Given the description of an element on the screen output the (x, y) to click on. 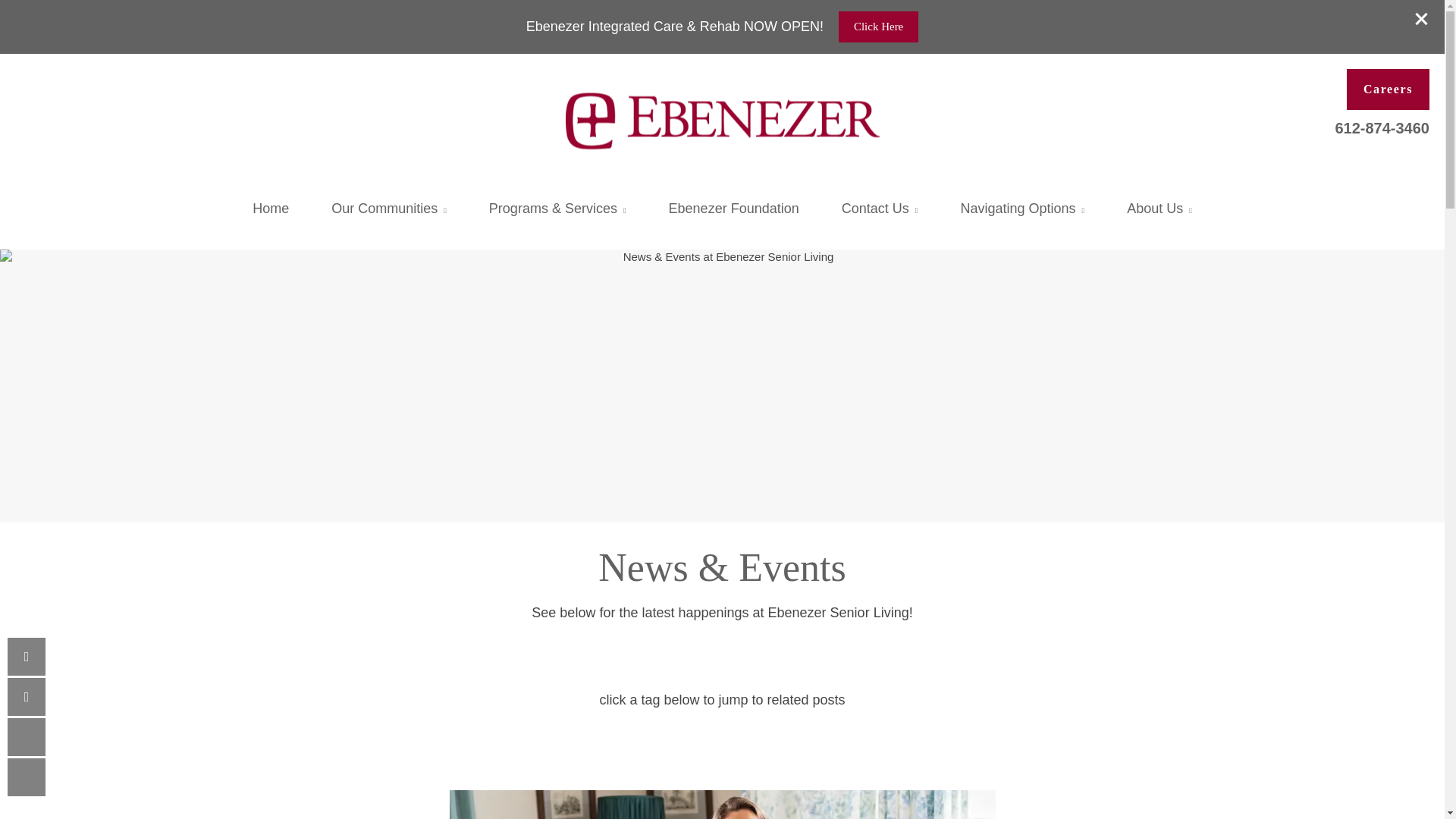
Scroll Down (26, 777)
612-874-3460 (1382, 125)
Additional Resources (1022, 210)
Careers (1387, 88)
Click Here (878, 26)
Emergency Response (896, 201)
Senior Living Options (557, 210)
Home (270, 208)
Phone Number (26, 656)
Scroll Up (26, 736)
Contact Us (880, 208)
Ebenezer Foundation (734, 208)
Our Communities (388, 208)
About Us (1158, 208)
Navigating Options (1022, 208)
